Given the description of an element on the screen output the (x, y) to click on. 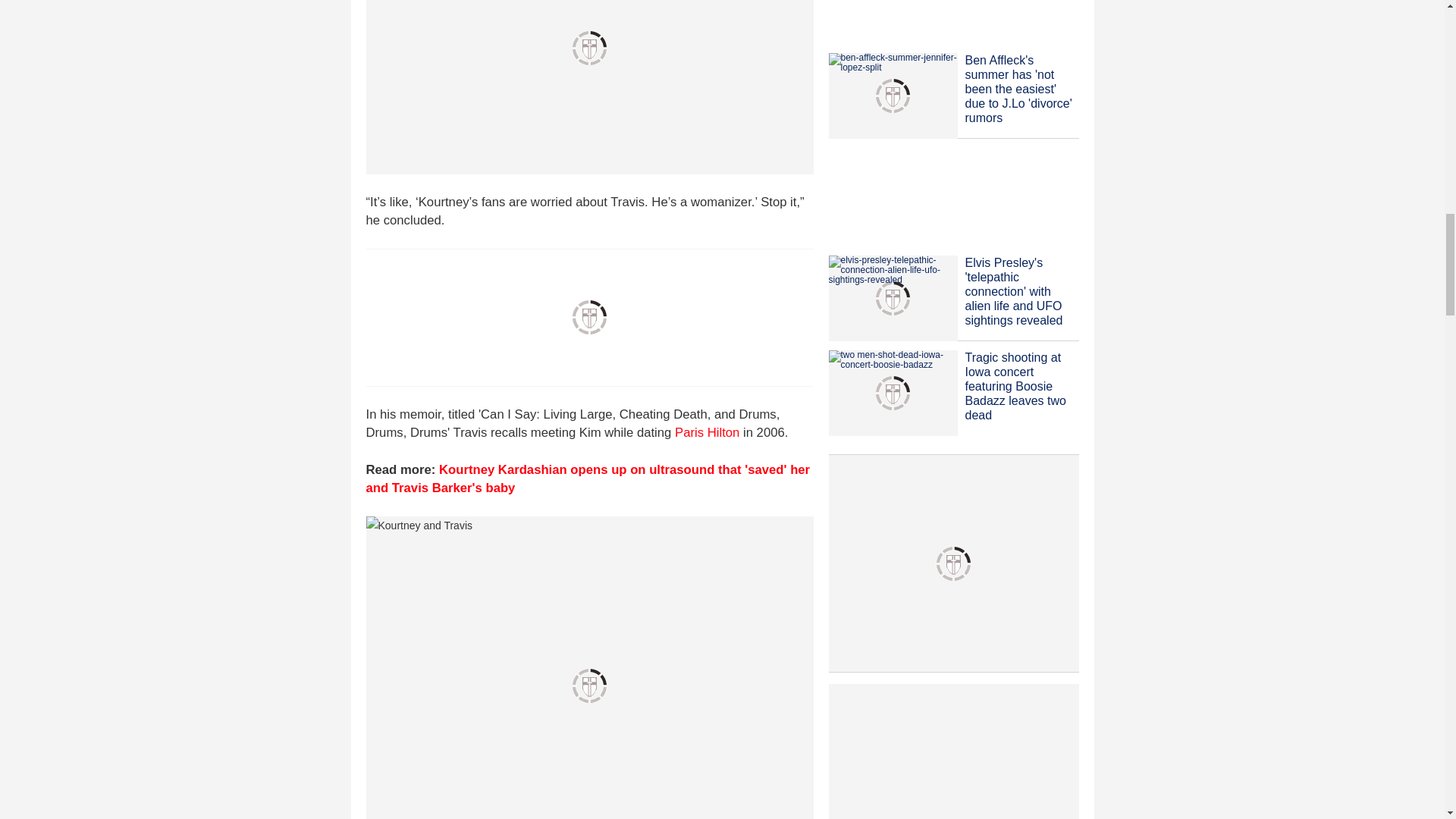
Paris Hilton (707, 432)
